Given the description of an element on the screen output the (x, y) to click on. 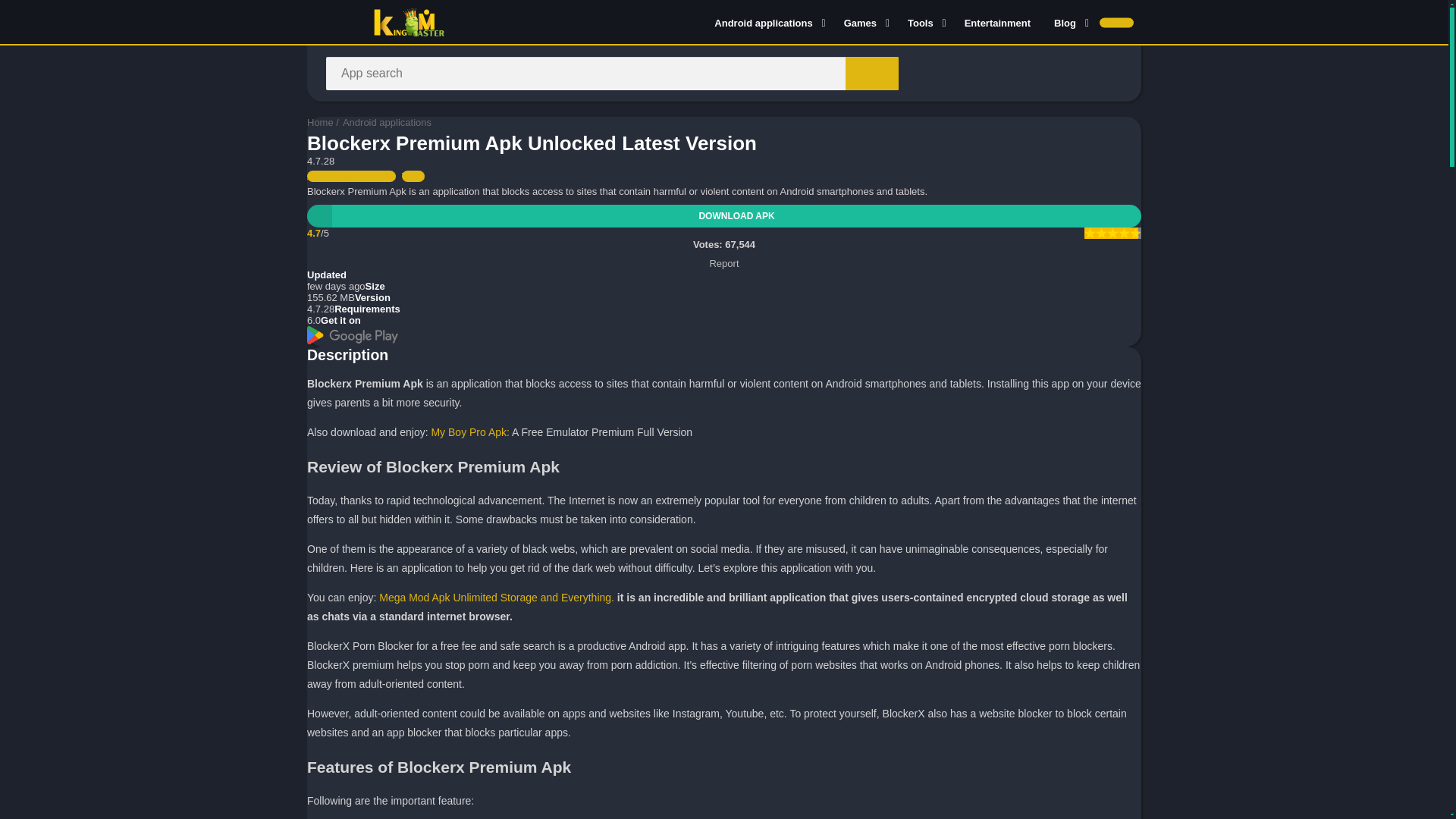
Blog (1068, 22)
king Master APK (320, 122)
Android applications (767, 22)
Entertainment (997, 22)
Download APK (724, 215)
App search (871, 73)
Tools (924, 22)
Games (863, 22)
